Given the description of an element on the screen output the (x, y) to click on. 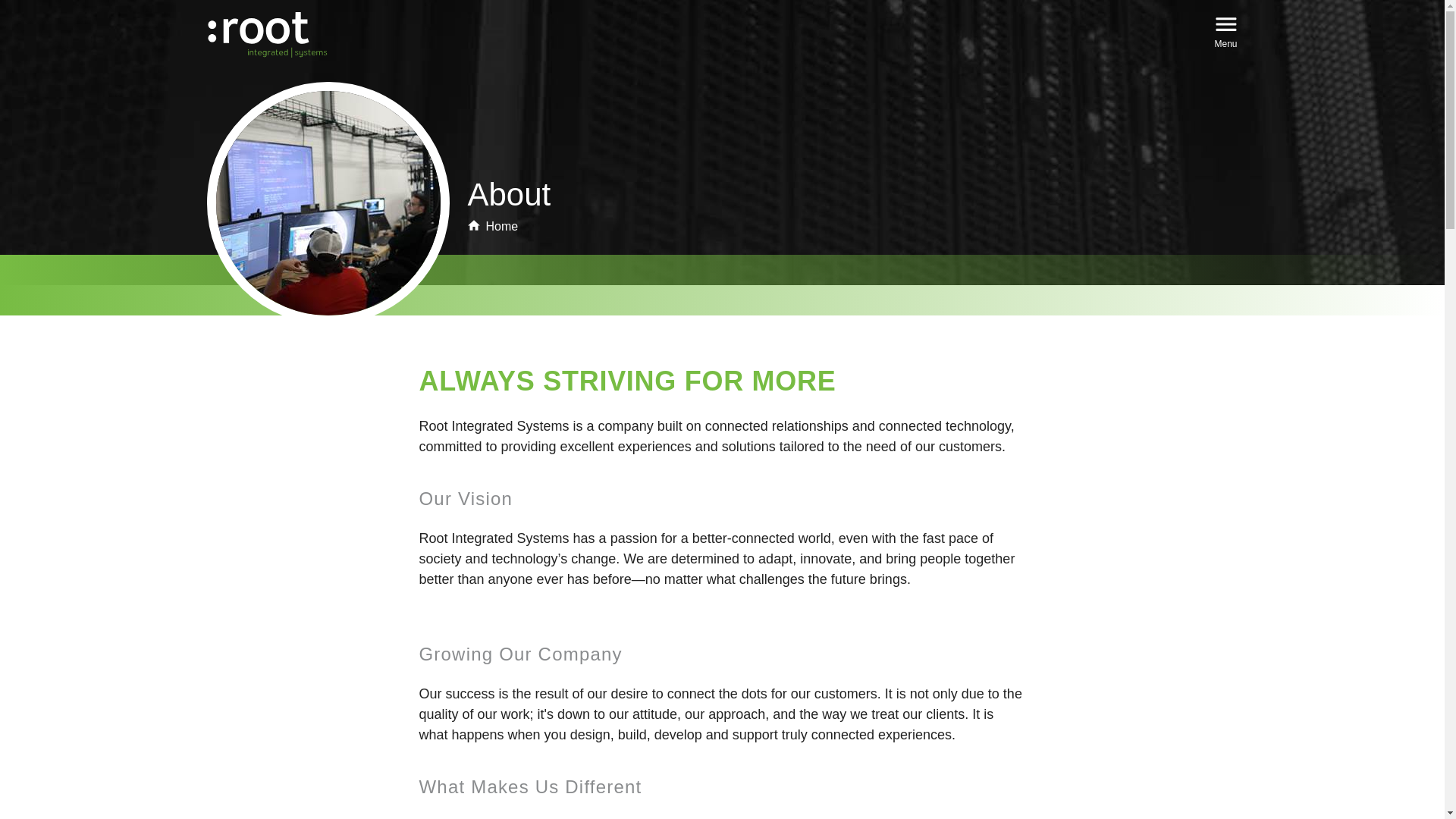
Root Integrated Systems (266, 34)
Home (492, 226)
Menu (1225, 30)
